Given the description of an element on the screen output the (x, y) to click on. 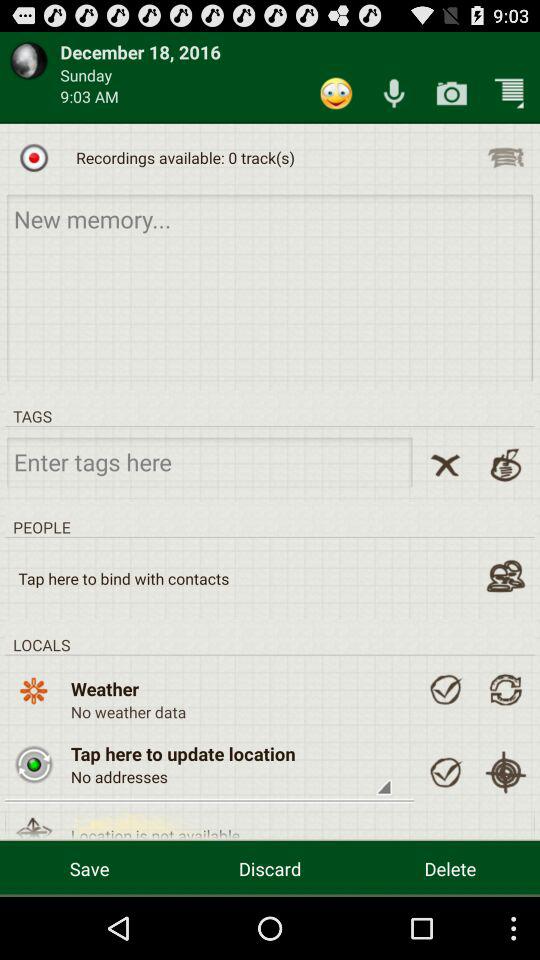
to select the tick (445, 689)
